Given the description of an element on the screen output the (x, y) to click on. 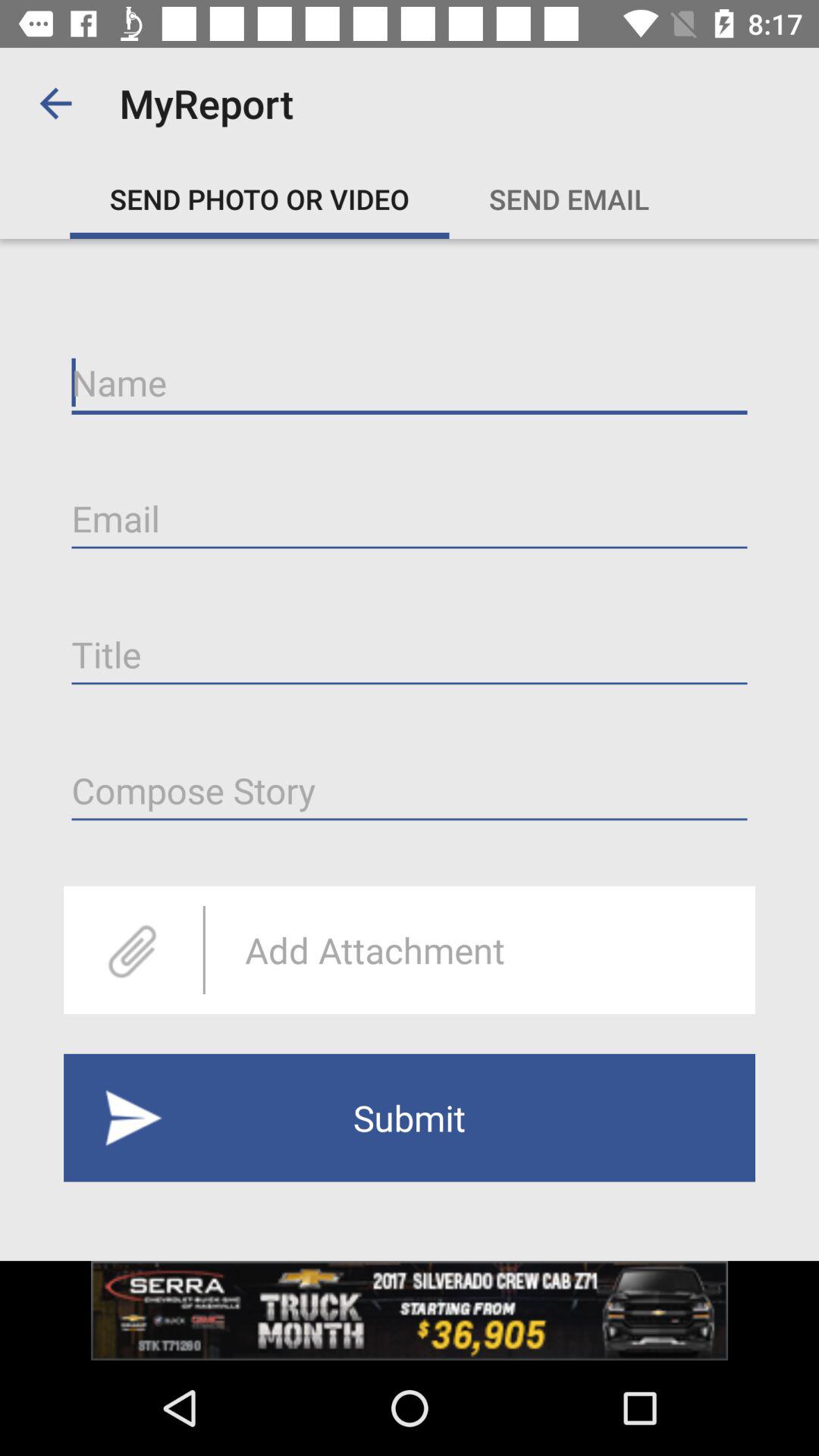
enter email address (409, 519)
